Given the description of an element on the screen output the (x, y) to click on. 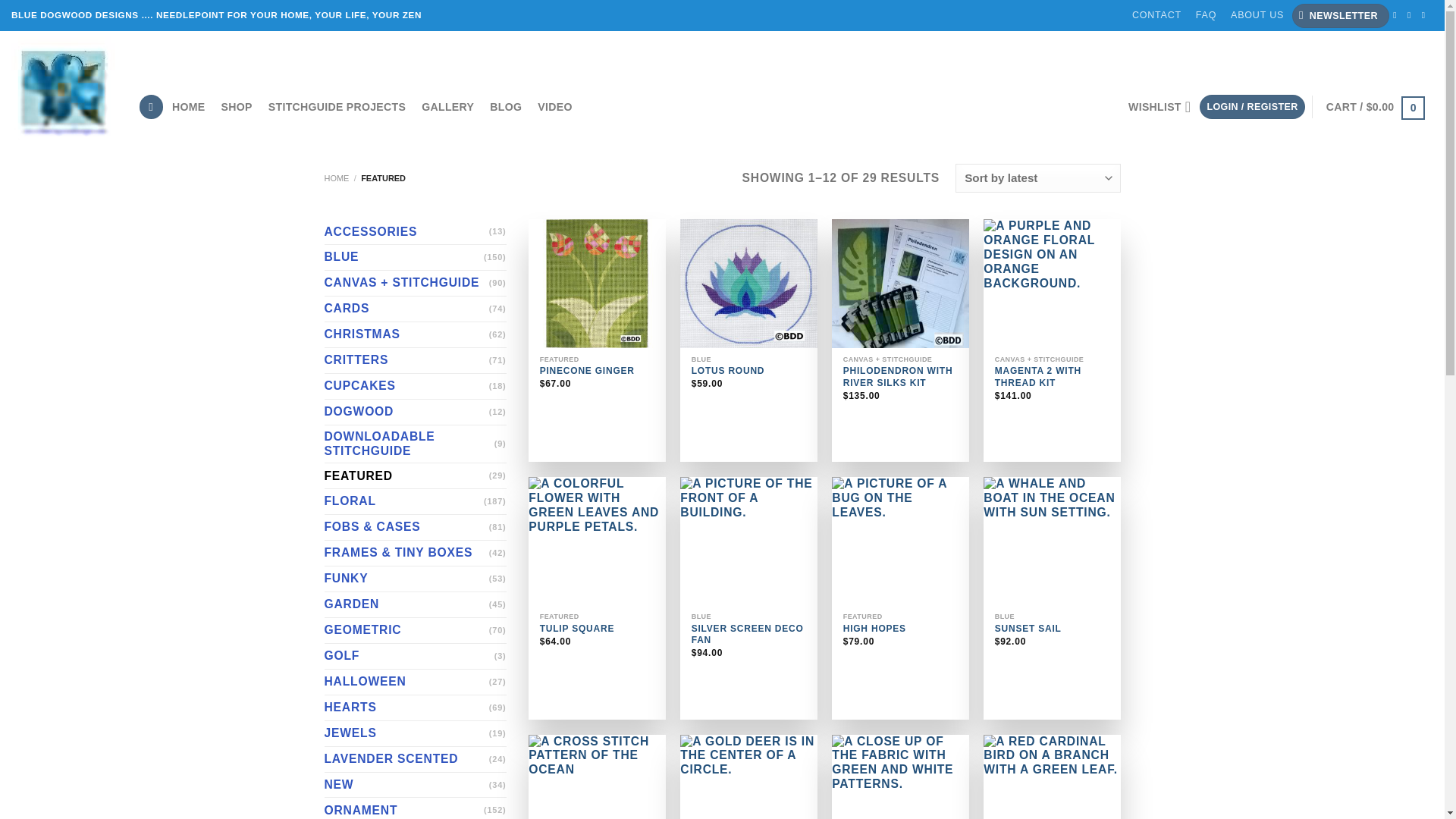
BLOG (505, 106)
HOME (187, 106)
HOME (336, 177)
CRITTERS (406, 360)
ABOUT US (1257, 15)
WISHLIST (1159, 106)
DOWNLOADABLE STITCHGUIDE (409, 444)
BLUE (403, 257)
CHRISTMAS (406, 334)
Follow on Instagram (1411, 14)
